Given the description of an element on the screen output the (x, y) to click on. 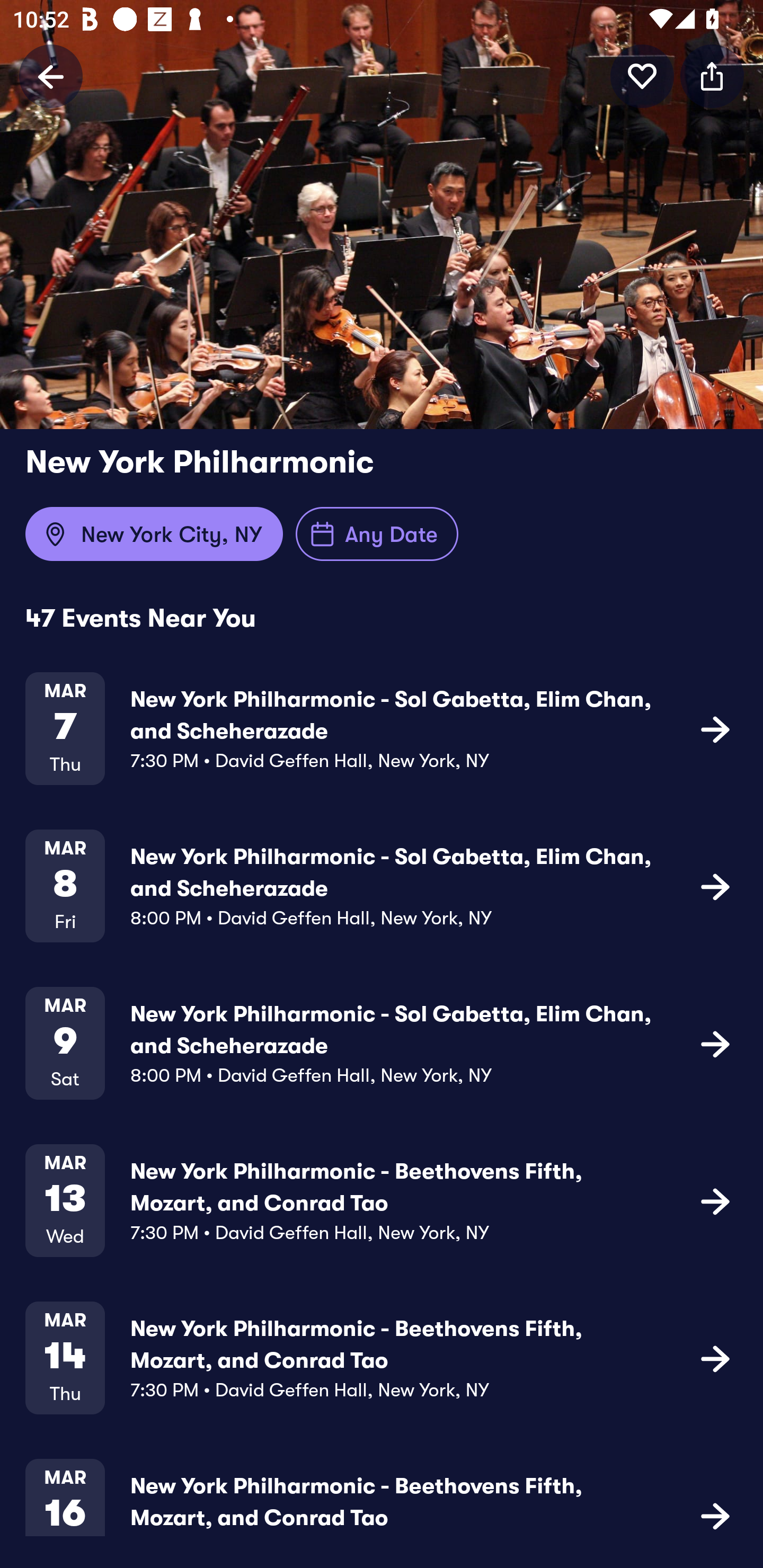
Back (50, 75)
icon button (641, 75)
icon button (711, 75)
New York City, NY (153, 533)
Any Date (377, 533)
icon button (714, 729)
icon button (714, 885)
icon button (714, 1043)
icon button (714, 1201)
icon button (714, 1357)
icon button (714, 1514)
